Given the description of an element on the screen output the (x, y) to click on. 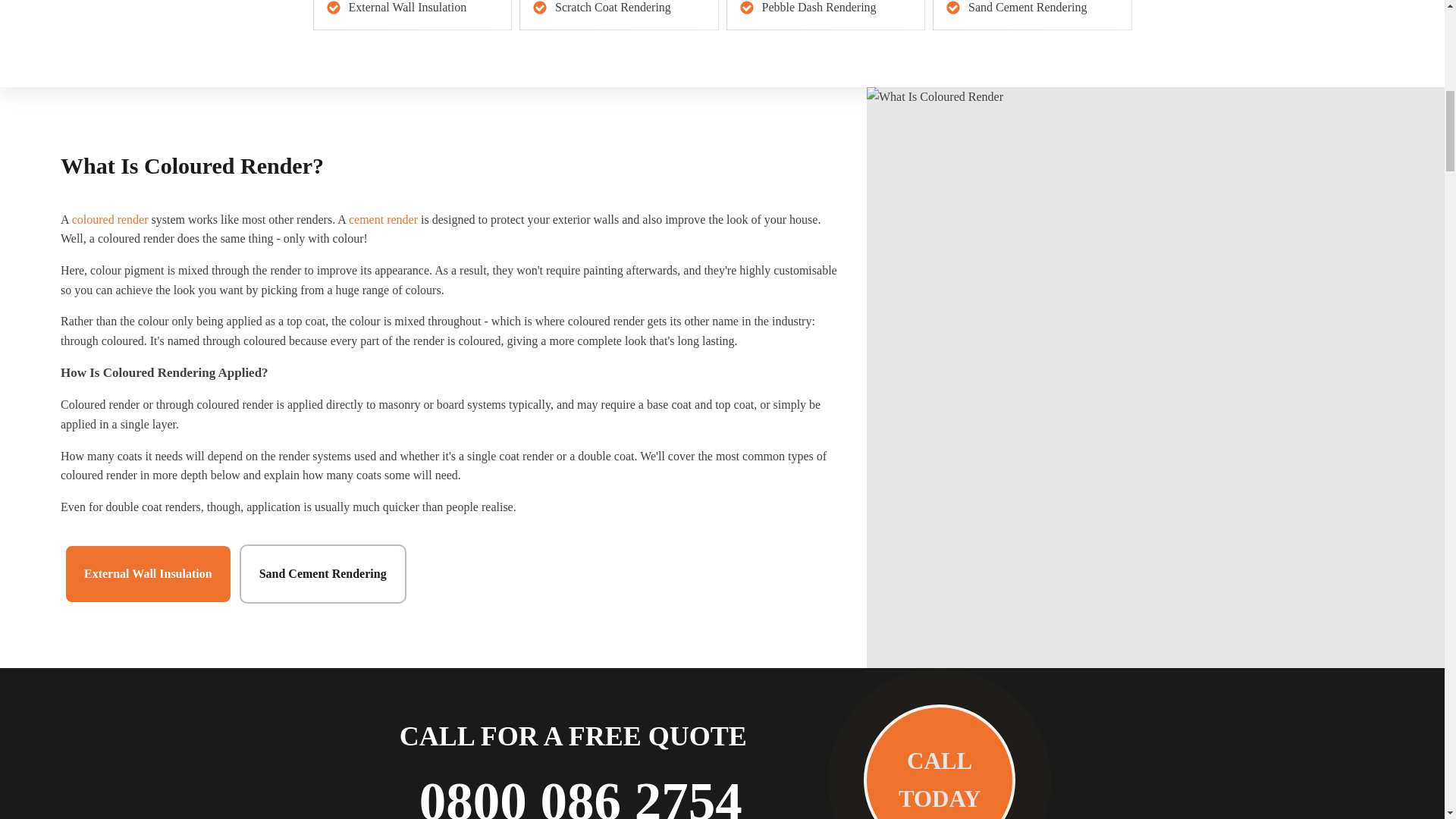
cement render (383, 219)
0800 086 2754 (580, 789)
Sand Cement Rendering (323, 573)
coloured render (109, 219)
External Wall Insulation (147, 573)
